Given the description of an element on the screen output the (x, y) to click on. 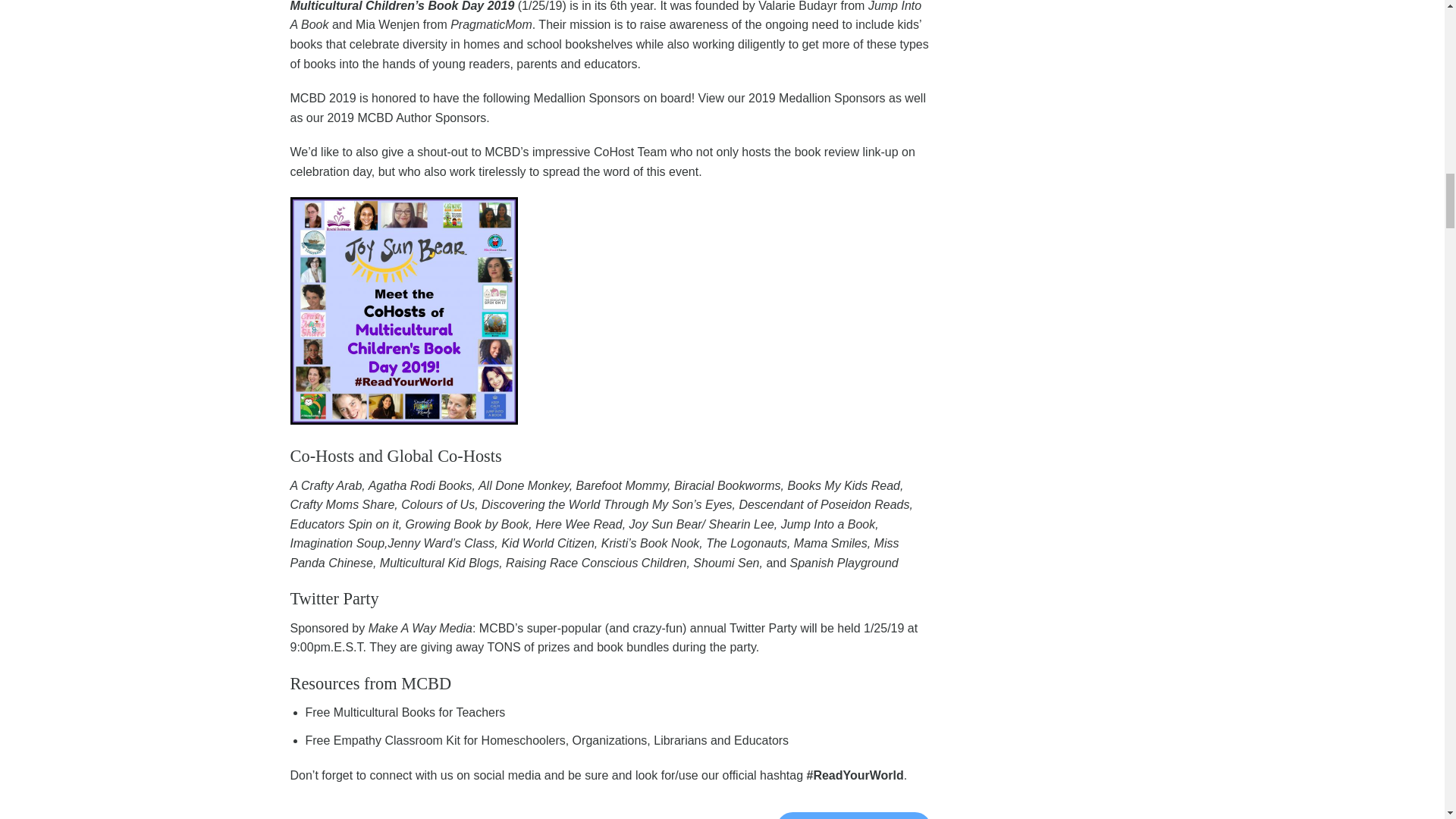
2019 MCBD Author Sponsors (406, 117)
2019 Medallion Sponsors (816, 97)
CONTINUE READING (853, 815)
Multicultural Books for Teachers (419, 712)
